Given the description of an element on the screen output the (x, y) to click on. 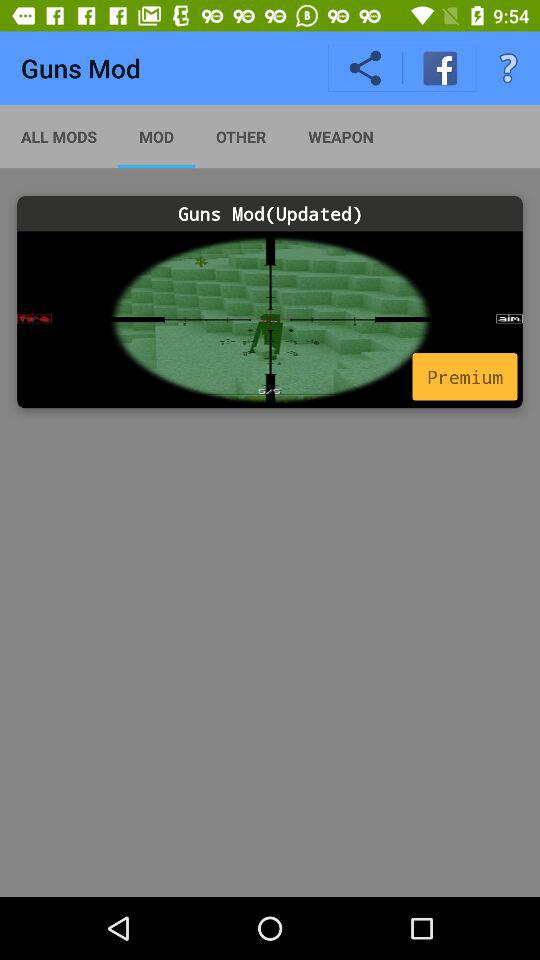
open item on the right (464, 376)
